Given the description of an element on the screen output the (x, y) to click on. 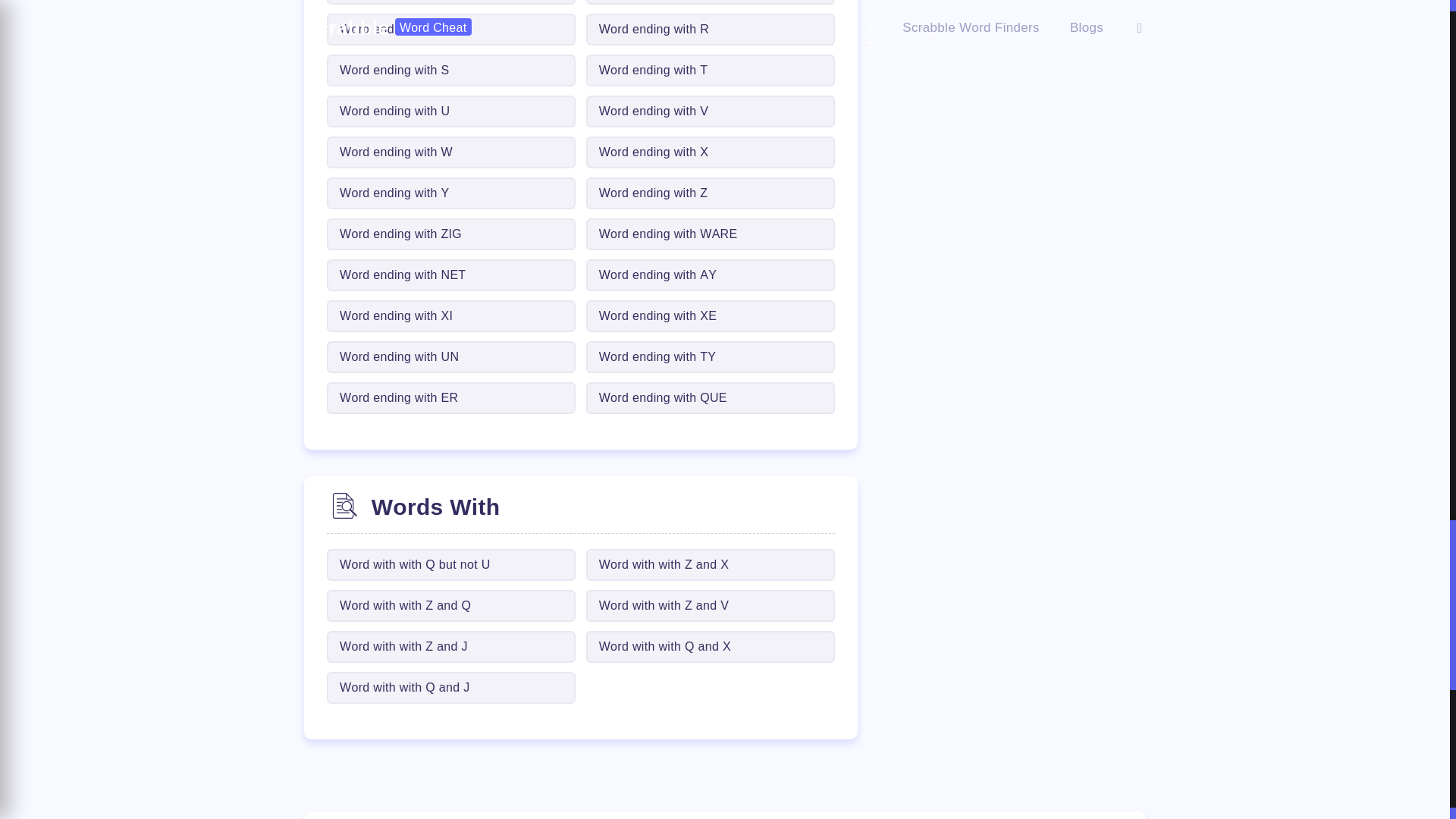
Word ending with Y (450, 193)
Word ending with W (450, 152)
Word ending with R (710, 29)
Word ending with P (710, 2)
Word ending with U (450, 111)
Word ending with V (710, 111)
Word ending with X (710, 152)
Word ending with S (450, 70)
Word ending with ZIG (450, 234)
Word ending with WARE (710, 234)
